Given the description of an element on the screen output the (x, y) to click on. 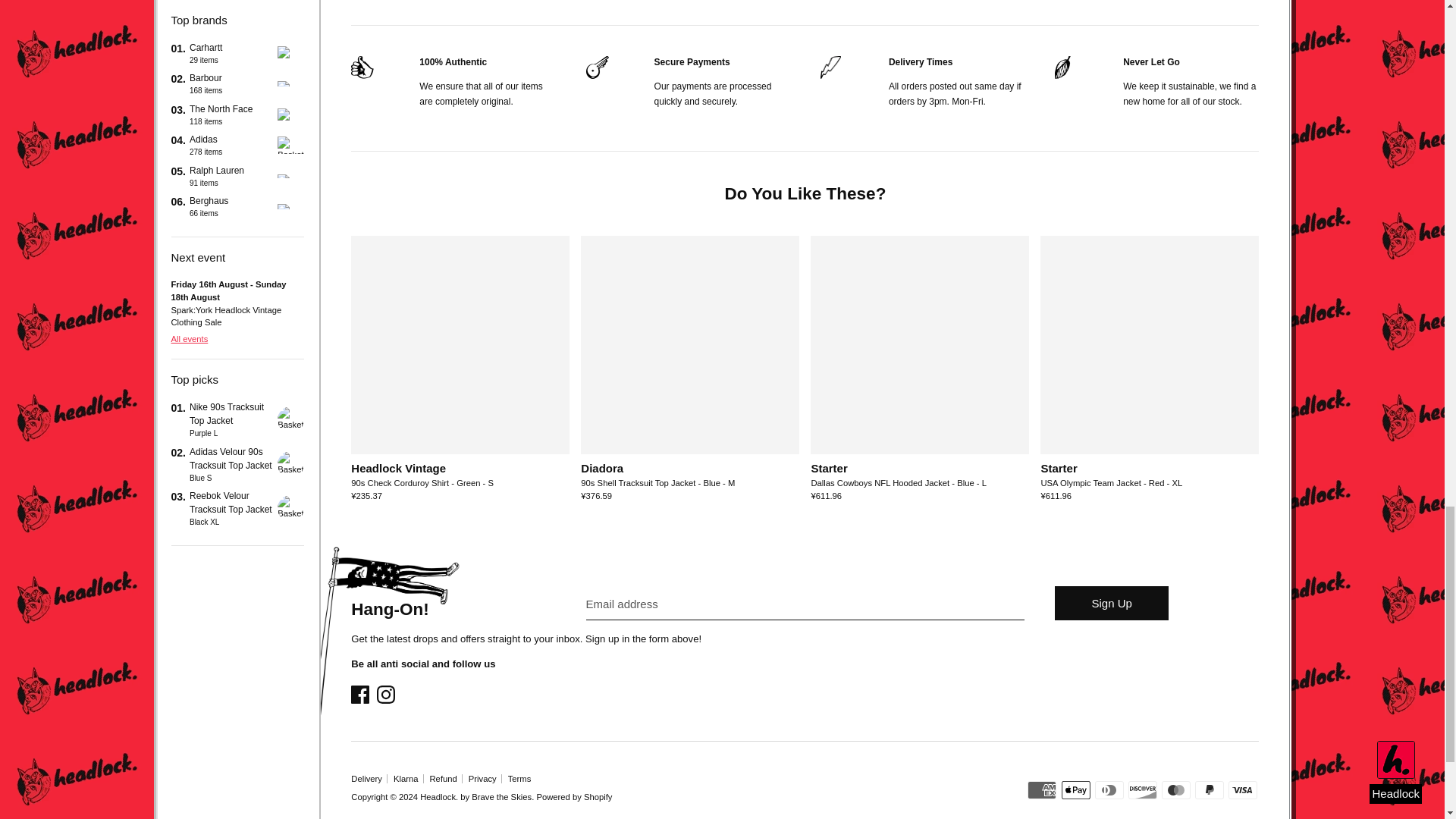
Facebook (361, 694)
Instagram (387, 694)
